Given the description of an element on the screen output the (x, y) to click on. 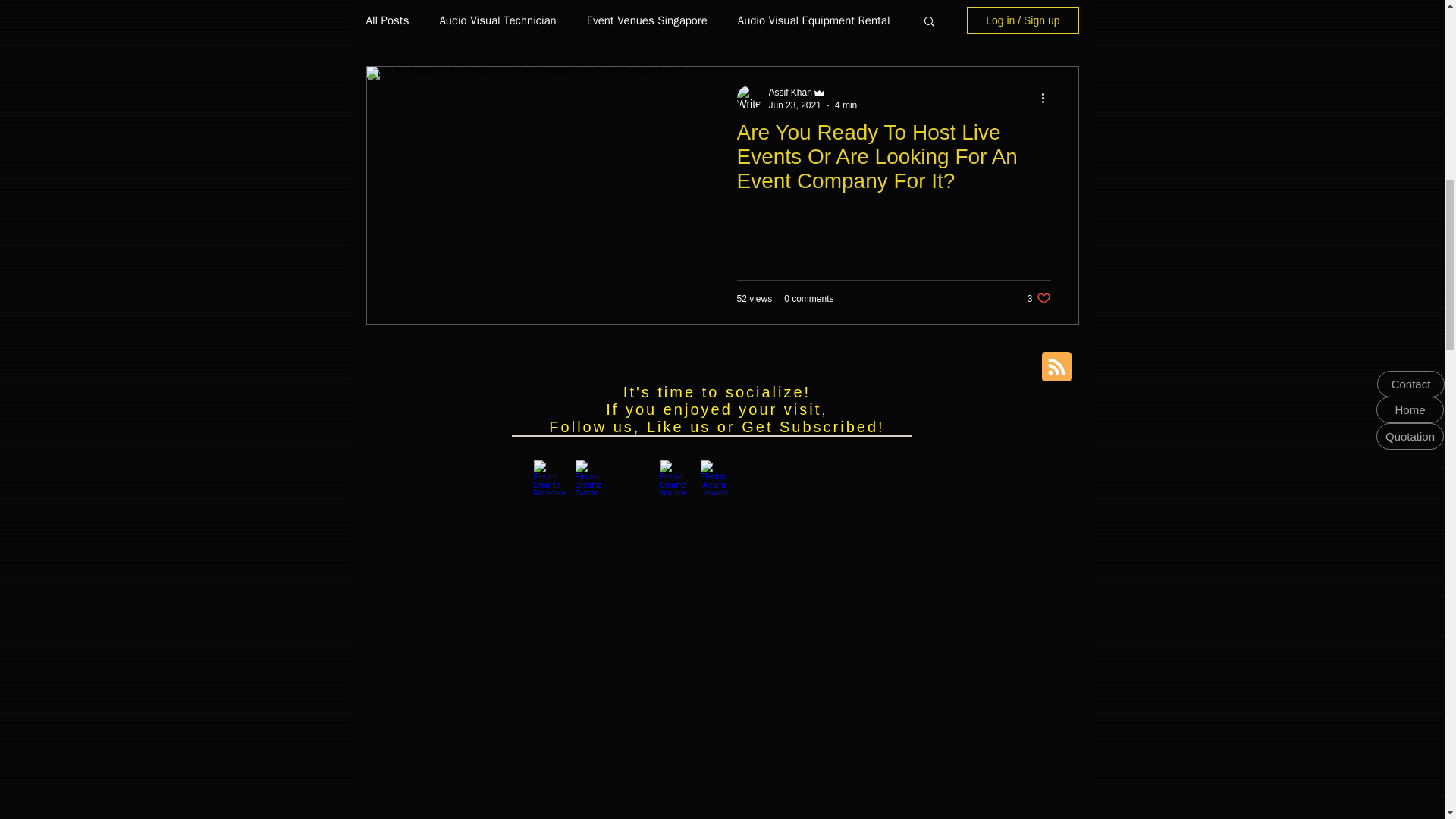
Audio Visual Equipment Rental (813, 20)
Electric Dreamz Youtube (676, 476)
Event Venues Singapore (646, 20)
All Posts (387, 20)
4 min (845, 104)
Electric Dreamz Twitter (591, 476)
Jun 23, 2021 (794, 104)
Twitter Follow (572, 515)
Audio Visual Technician (497, 20)
Assif Khan (790, 91)
Electric Dreamz Linkedin (717, 476)
Electric Dreamz Facebook (551, 476)
